Given the description of an element on the screen output the (x, y) to click on. 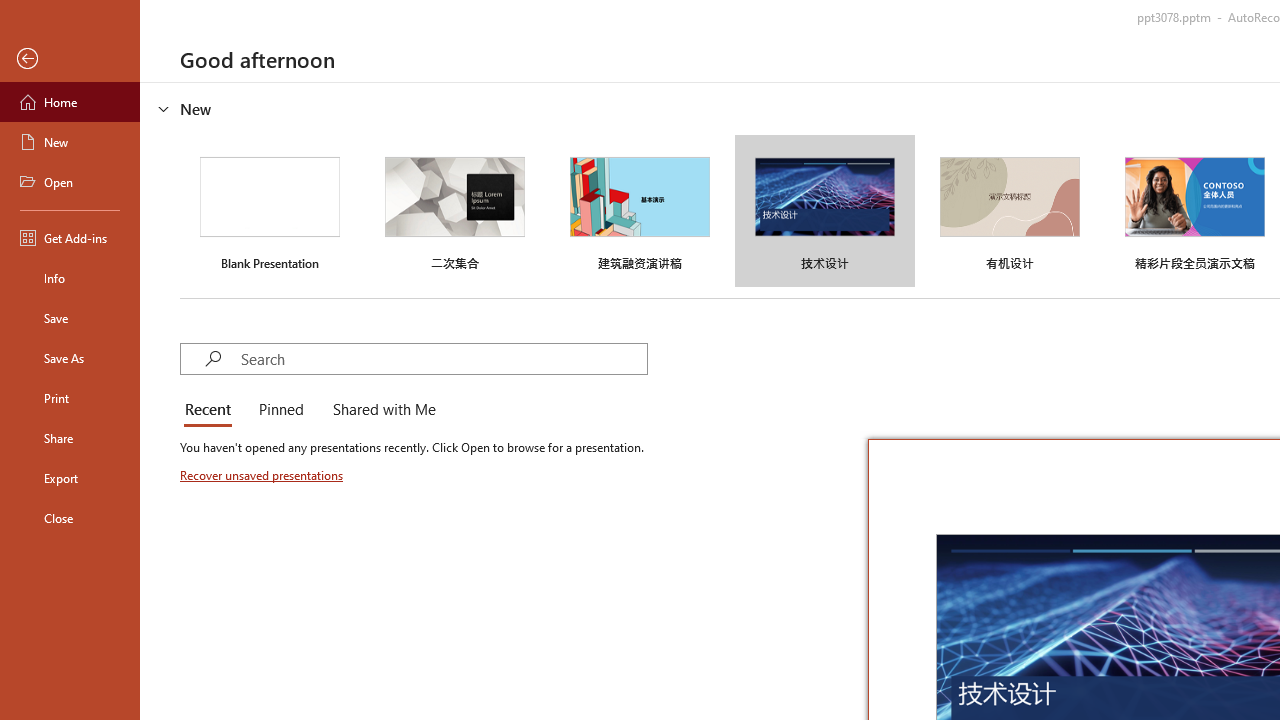
Shared with Me (379, 410)
Pinned (280, 410)
Get Add-ins (69, 237)
Back (69, 59)
Print (69, 398)
